Given the description of an element on the screen output the (x, y) to click on. 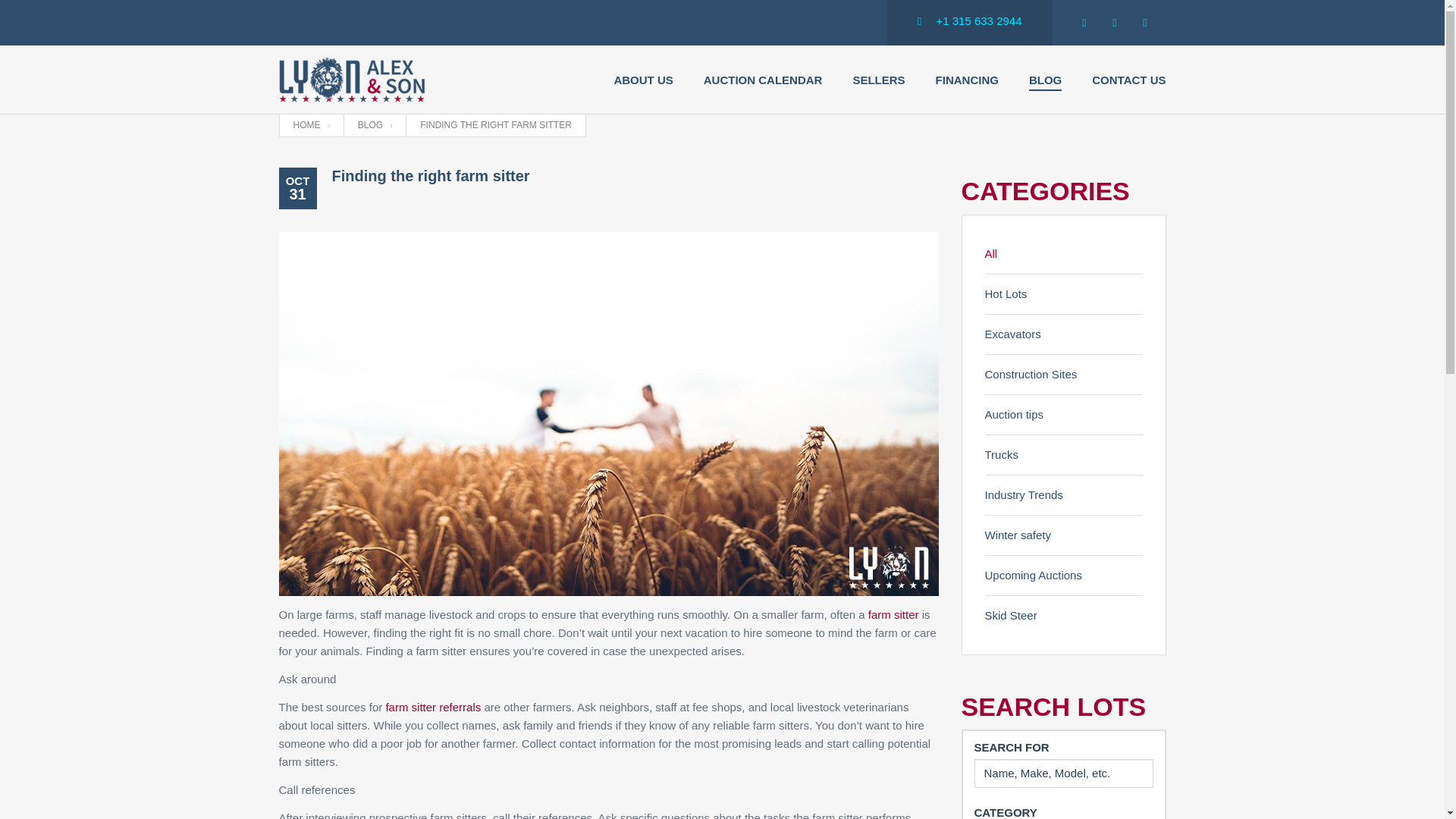
Trucks (1062, 454)
CONTACT US (1129, 80)
BLOG (1045, 80)
FINDING THE RIGHT FARM SITTER (496, 124)
Industry Trends (1062, 495)
SELLERS (877, 80)
HOME (310, 124)
Hot Lots (1062, 294)
farm sitter referrals (432, 707)
ABOUT US (642, 80)
